Given the description of an element on the screen output the (x, y) to click on. 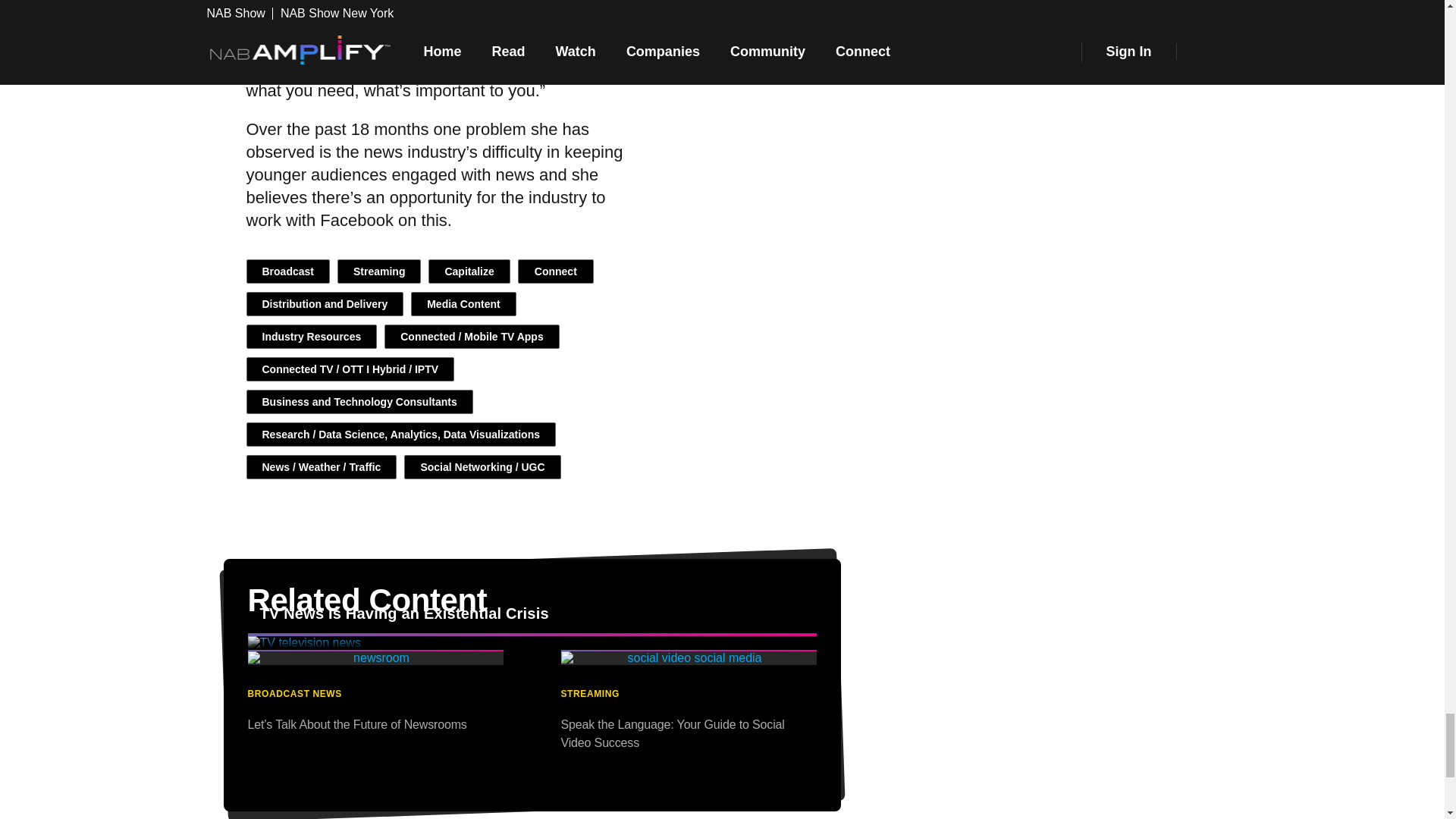
Distribution and Delivery (324, 303)
Media Content (462, 303)
Industry Resources (311, 336)
Capitalize (468, 271)
Connect (556, 271)
Streaming (378, 271)
Broadcast (287, 271)
